Given the description of an element on the screen output the (x, y) to click on. 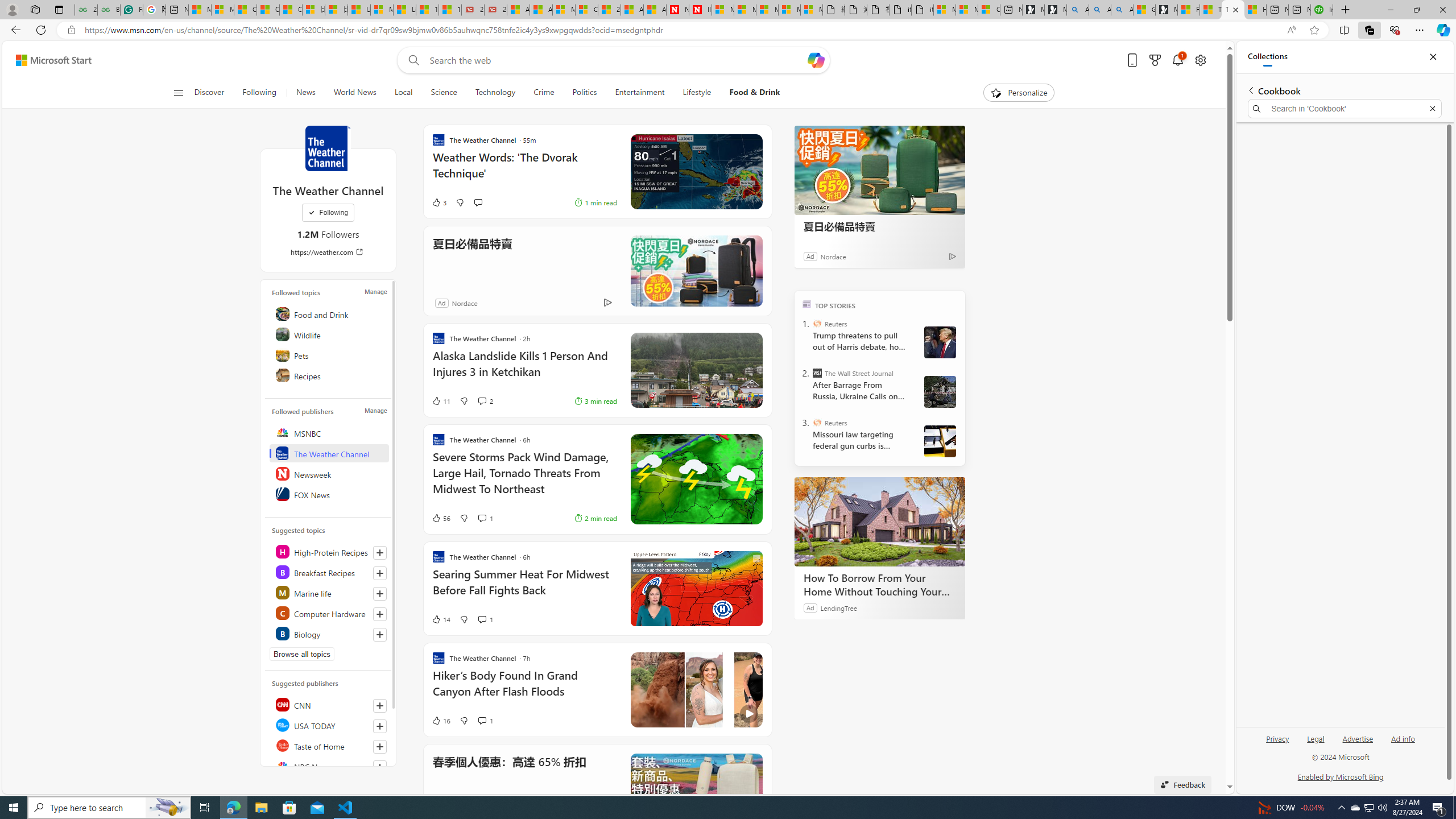
Food and Drink (328, 313)
View comments 2 Comment (481, 400)
Weather Words: 'The Dvorak Technique' (524, 171)
USA TODAY (328, 724)
Exit search (1432, 108)
